Given the description of an element on the screen output the (x, y) to click on. 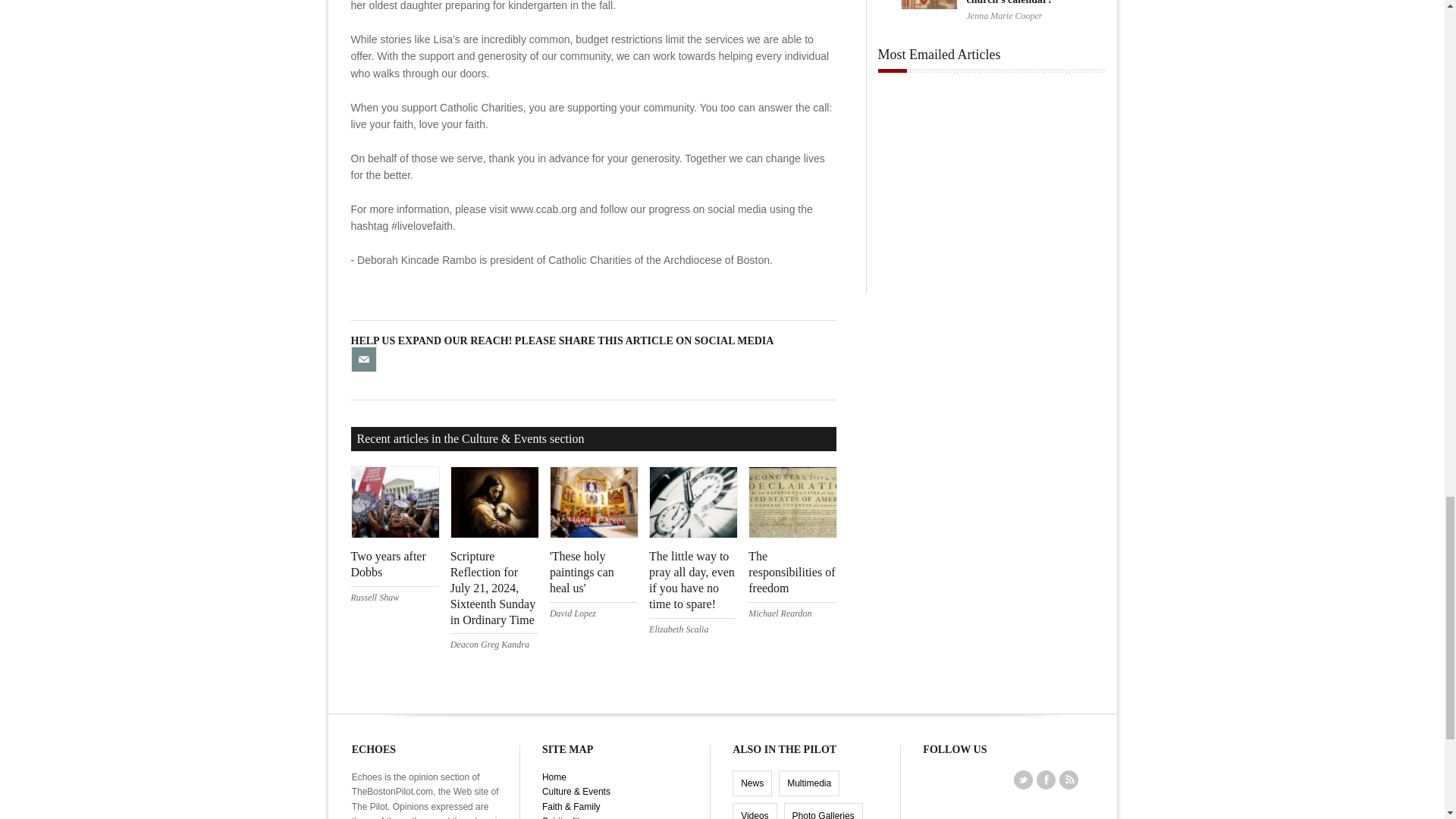
Facebook (1046, 779)
RSS (1067, 779)
3rd party ad content (991, 197)
Twitter (1024, 779)
Two years after Dobbs (387, 563)
The responsibilities of freedom (791, 571)
Email a friend (362, 358)
'These holy paintings can heal us' (582, 571)
